Given the description of an element on the screen output the (x, y) to click on. 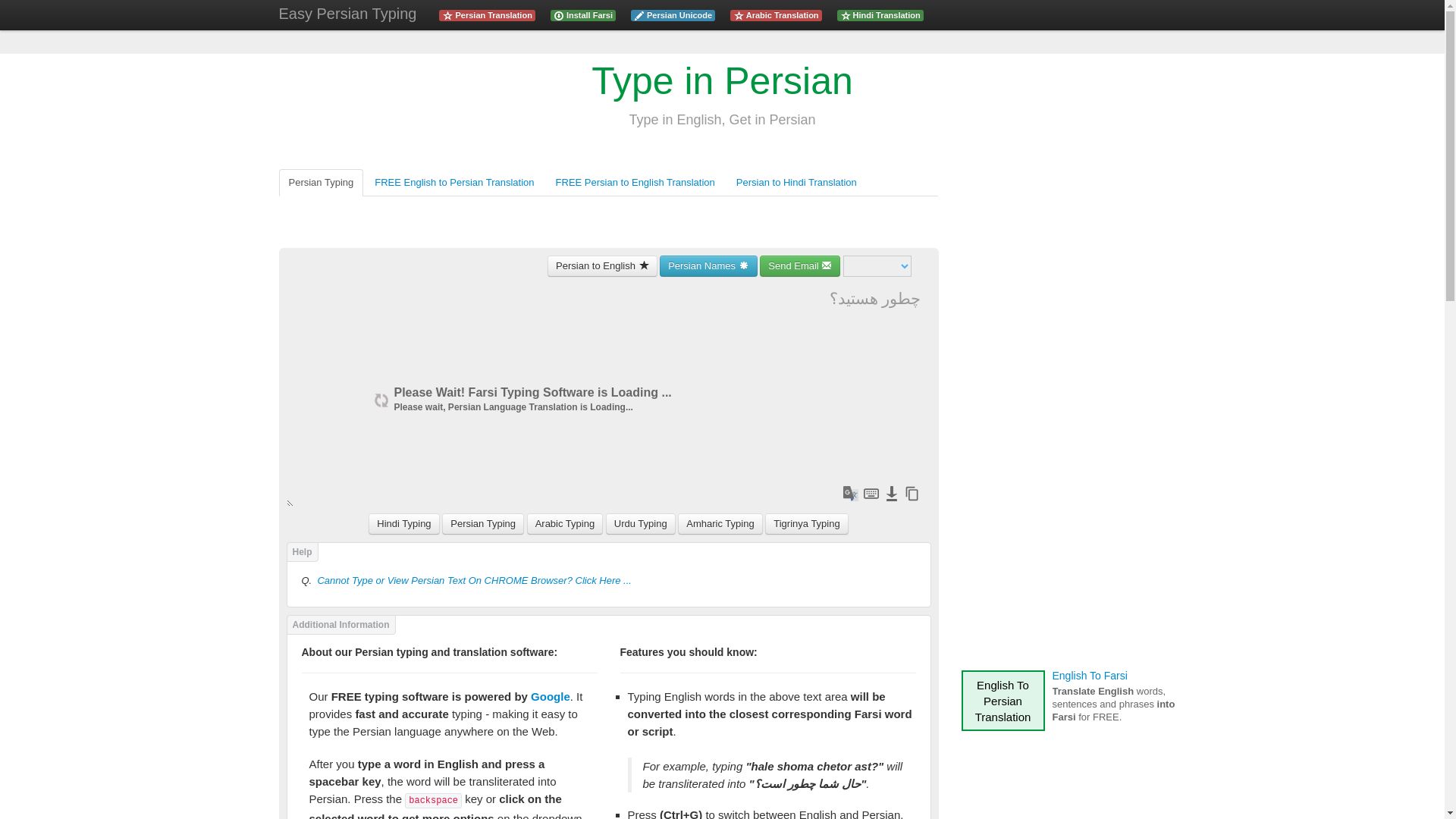
Translate Farsi words, sentences and phrases into English. (601, 265)
Arabic Translation (775, 14)
Persian to Hindi Translation (796, 182)
 Persian to English (601, 265)
Type in English and Get in Persian (347, 15)
FREE English to Persian Translation (454, 182)
Persian Typing (321, 182)
FREE Persian to English Translation (635, 182)
 Send Email (800, 265)
Persian Translation (485, 14)
English to Persian Typing (722, 81)
Easily translate English text to Farsi sentence and phrase. (485, 14)
Type in English, Get in Persian (722, 119)
Send Email to anyone in Persian (800, 265)
